Given the description of an element on the screen output the (x, y) to click on. 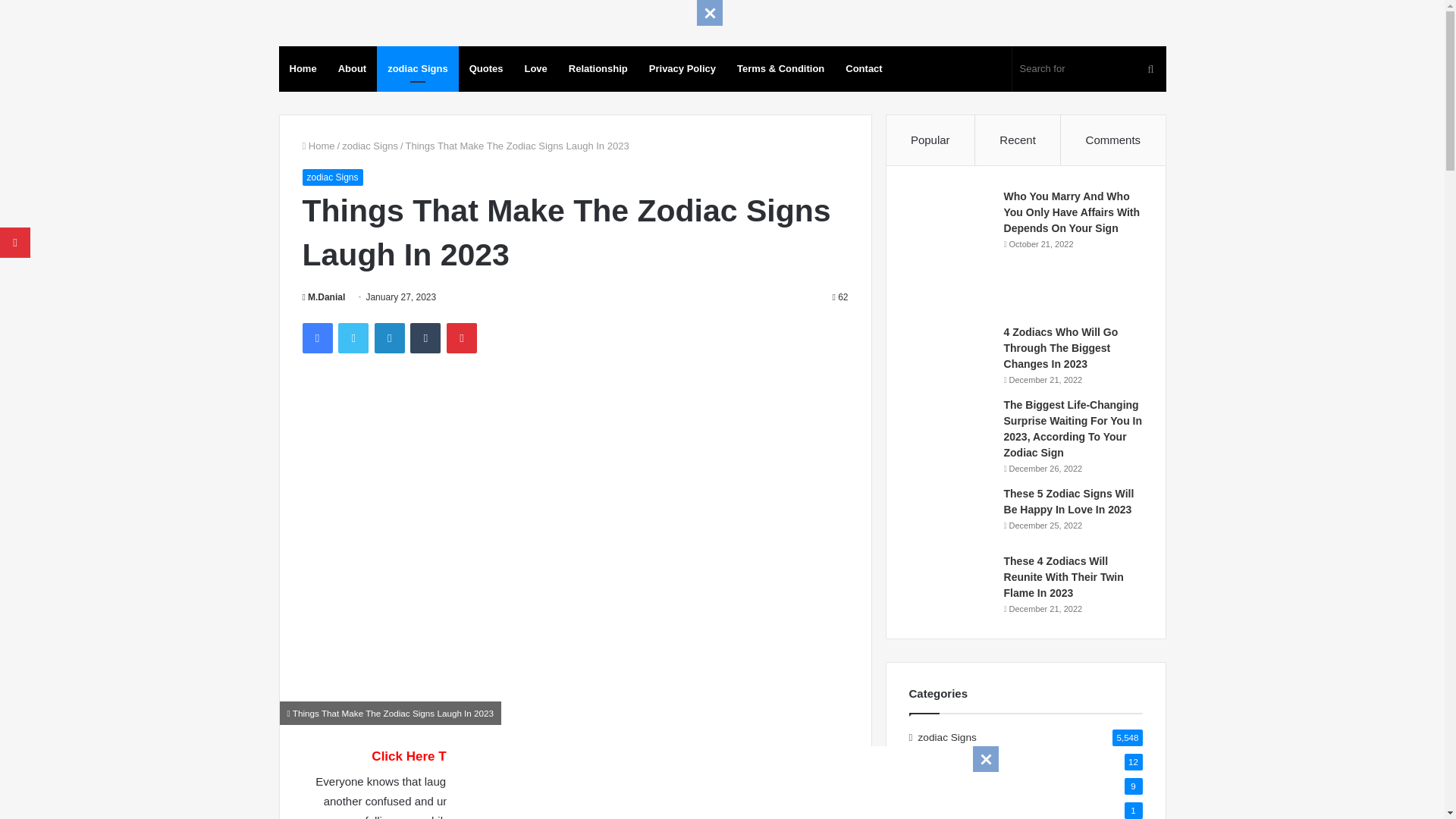
zodiac Signs (369, 145)
zodiac Signs (331, 176)
LinkedIn (389, 337)
Quotes (485, 68)
Home (317, 145)
Love (535, 68)
Search for (1088, 68)
Twitter (352, 337)
Pinterest (461, 337)
Contact (863, 68)
Pinterest (461, 337)
zodiac Signs (417, 68)
Tumblr (425, 337)
About (352, 68)
Tumblr (425, 337)
